Given the description of an element on the screen output the (x, y) to click on. 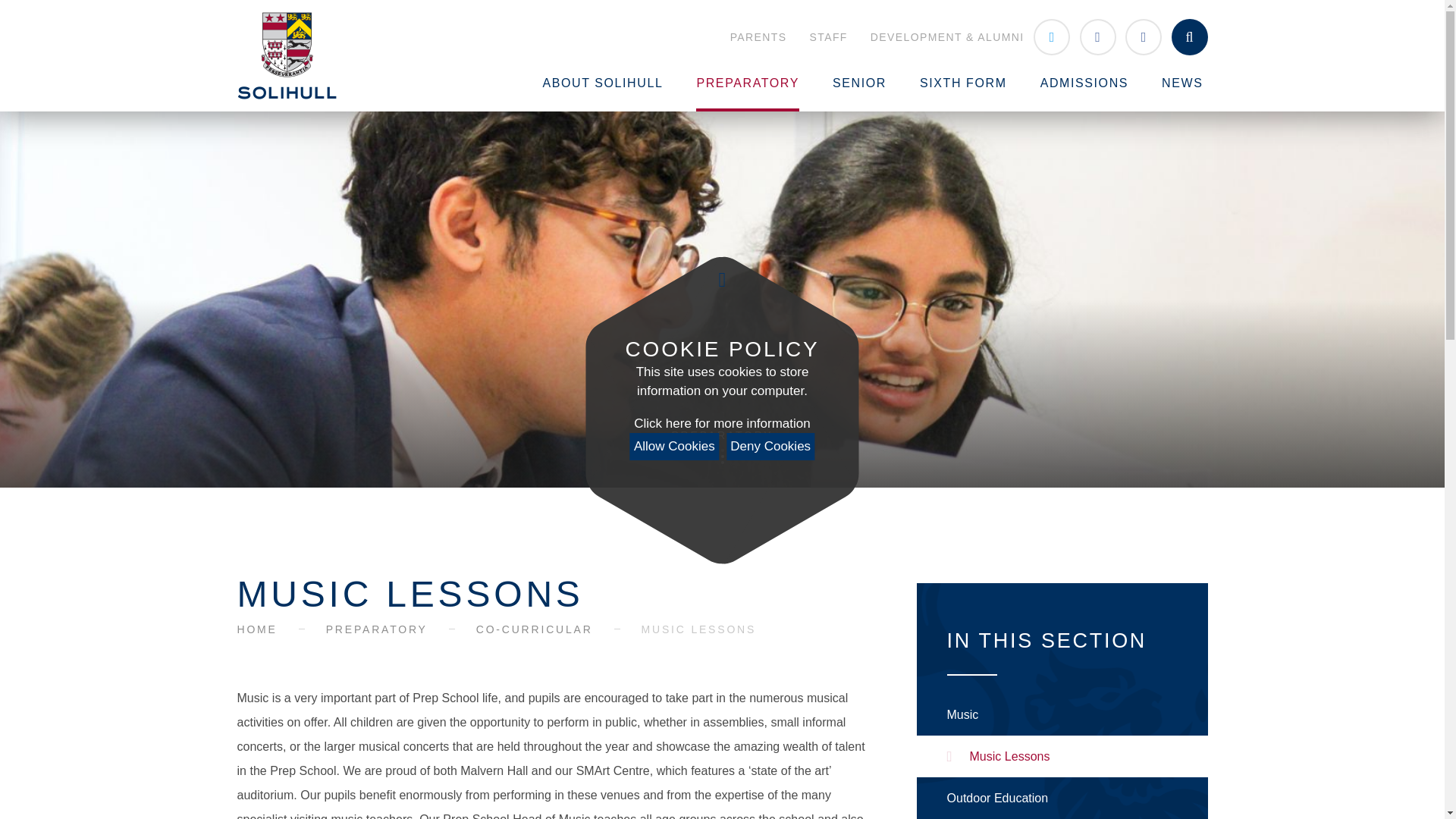
ABOUT SOLIHULL (601, 83)
See cookie policy (721, 424)
PREPARATORY (722, 448)
Deny Cookies (769, 446)
PREPARATORY (747, 83)
Allow Cookies (674, 446)
